Given the description of an element on the screen output the (x, y) to click on. 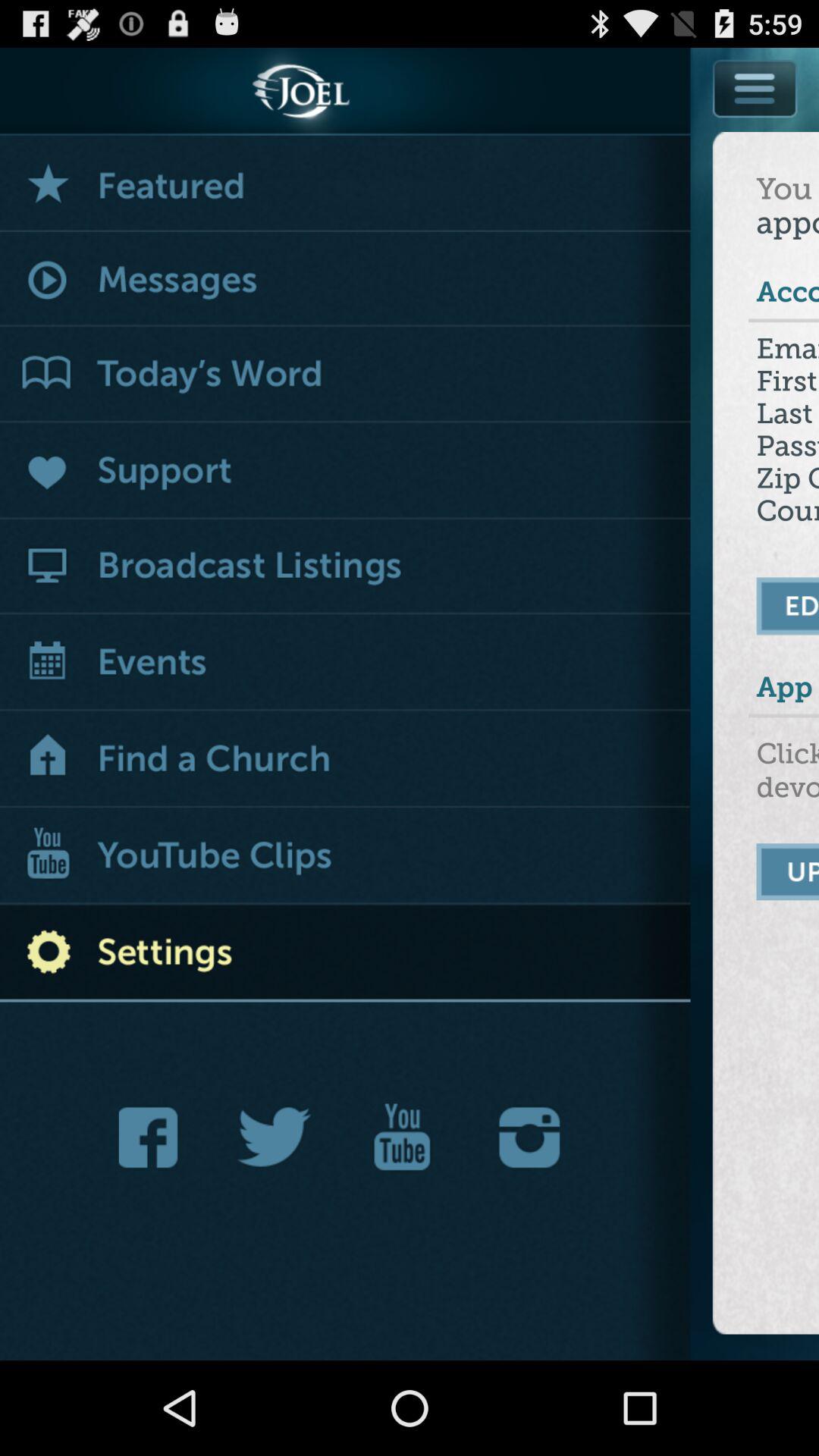
navigate to youtube app (401, 1137)
